Given the description of an element on the screen output the (x, y) to click on. 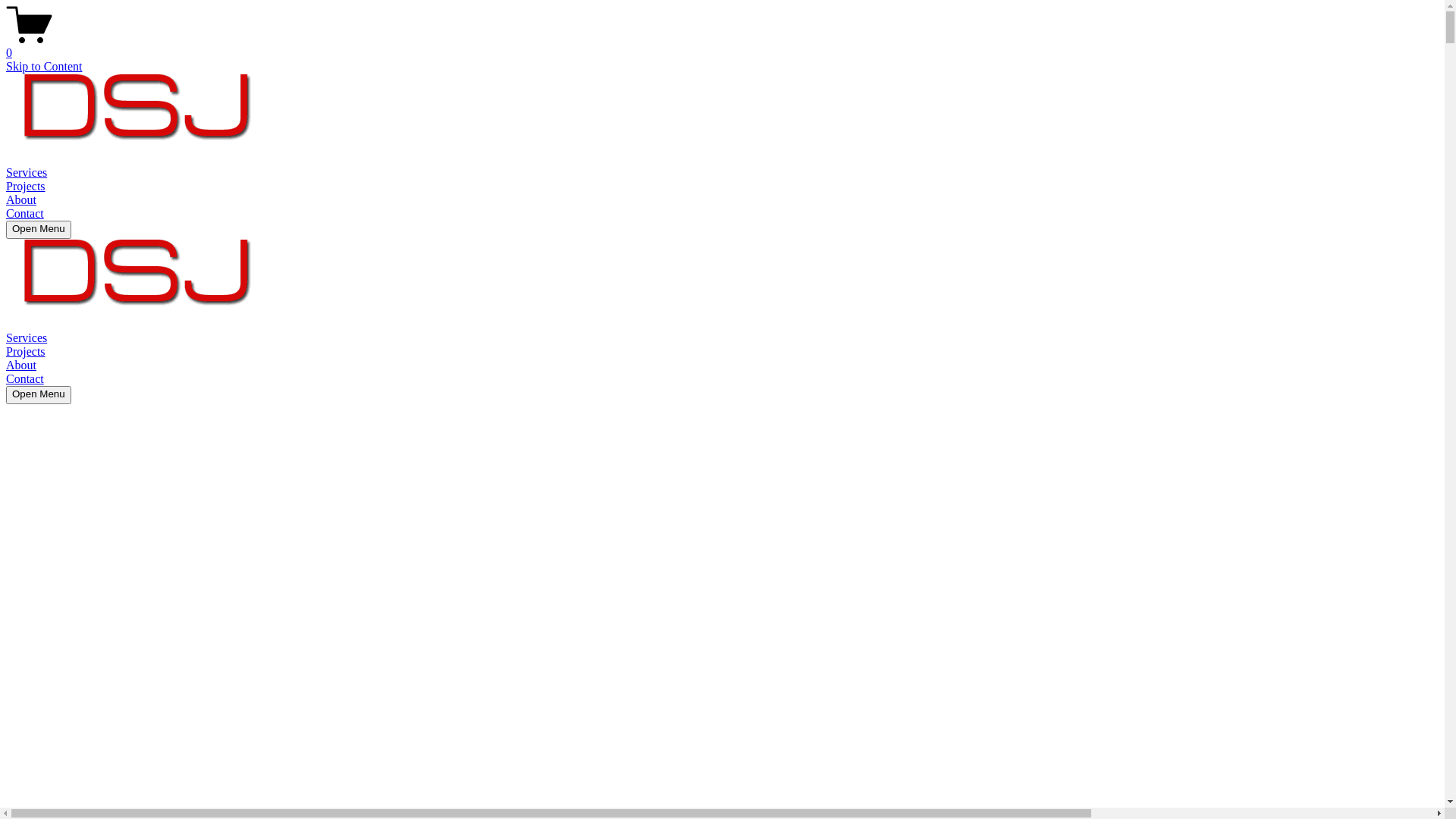
0 Element type: text (722, 45)
Projects Element type: text (25, 351)
Services Element type: text (26, 337)
Contact Element type: text (24, 378)
About Element type: text (21, 199)
About Element type: text (21, 364)
Contact Element type: text (24, 213)
Services Element type: text (26, 172)
Skip to Content Element type: text (43, 65)
Projects Element type: text (25, 185)
Open Menu Element type: text (38, 394)
Open Menu Element type: text (38, 229)
